Given the description of an element on the screen output the (x, y) to click on. 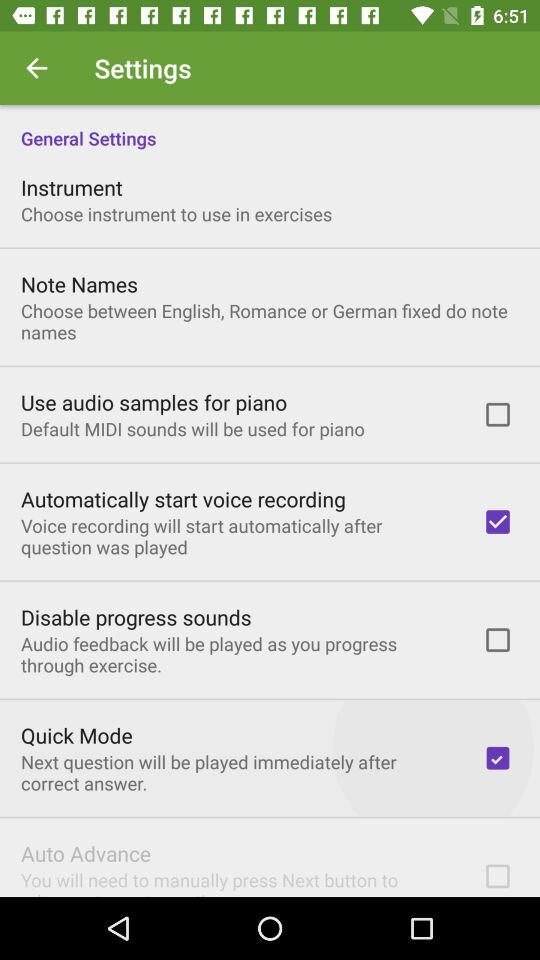
click the item to the left of settings item (36, 68)
